Given the description of an element on the screen output the (x, y) to click on. 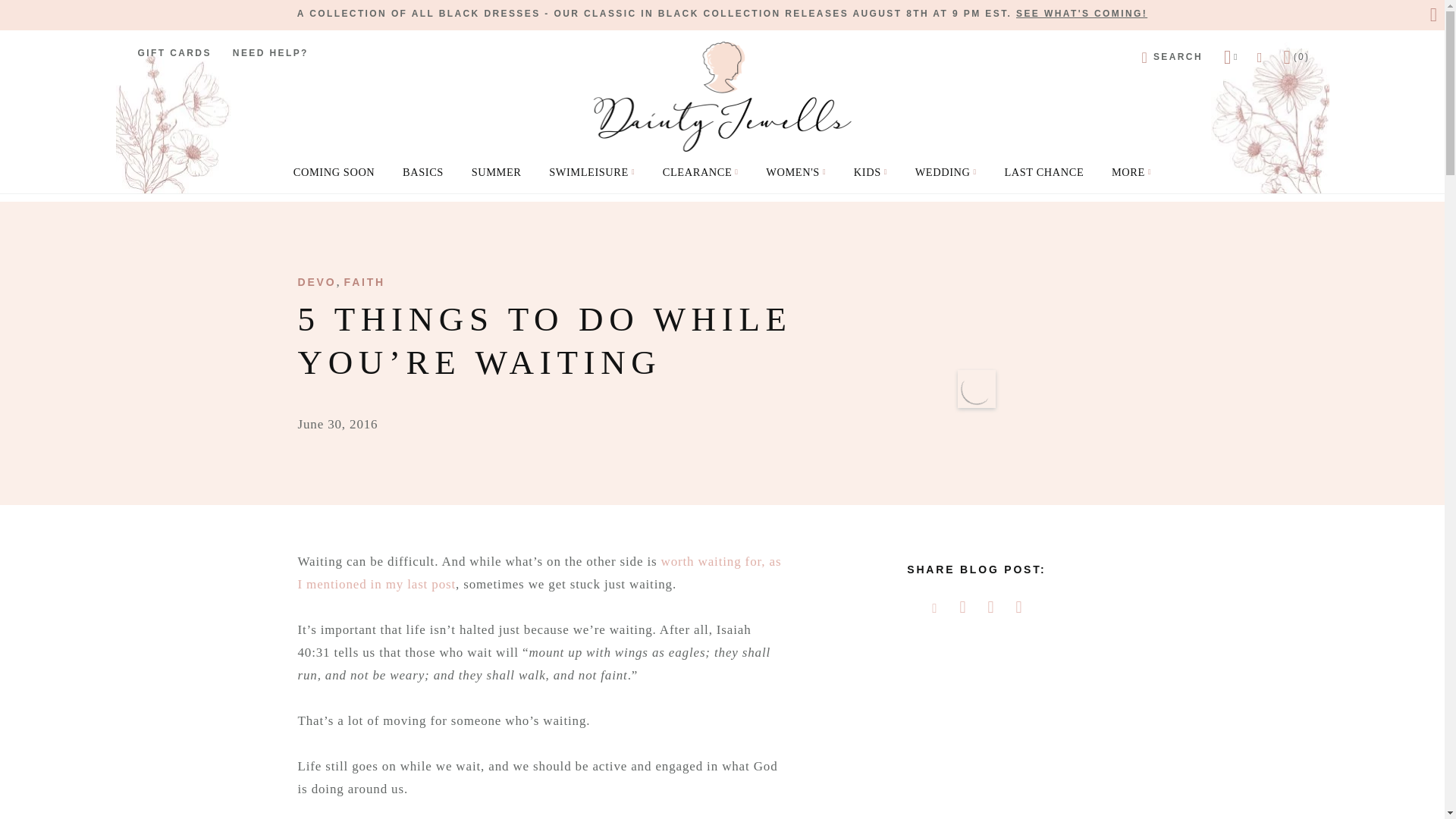
BASICS (422, 171)
CLEARANCE (700, 171)
COMING SOON (333, 171)
SEE WHAT'S COMING! (1081, 13)
SUMMER (496, 171)
WOMEN'S (795, 171)
SWIMLEISURE (591, 171)
